Given the description of an element on the screen output the (x, y) to click on. 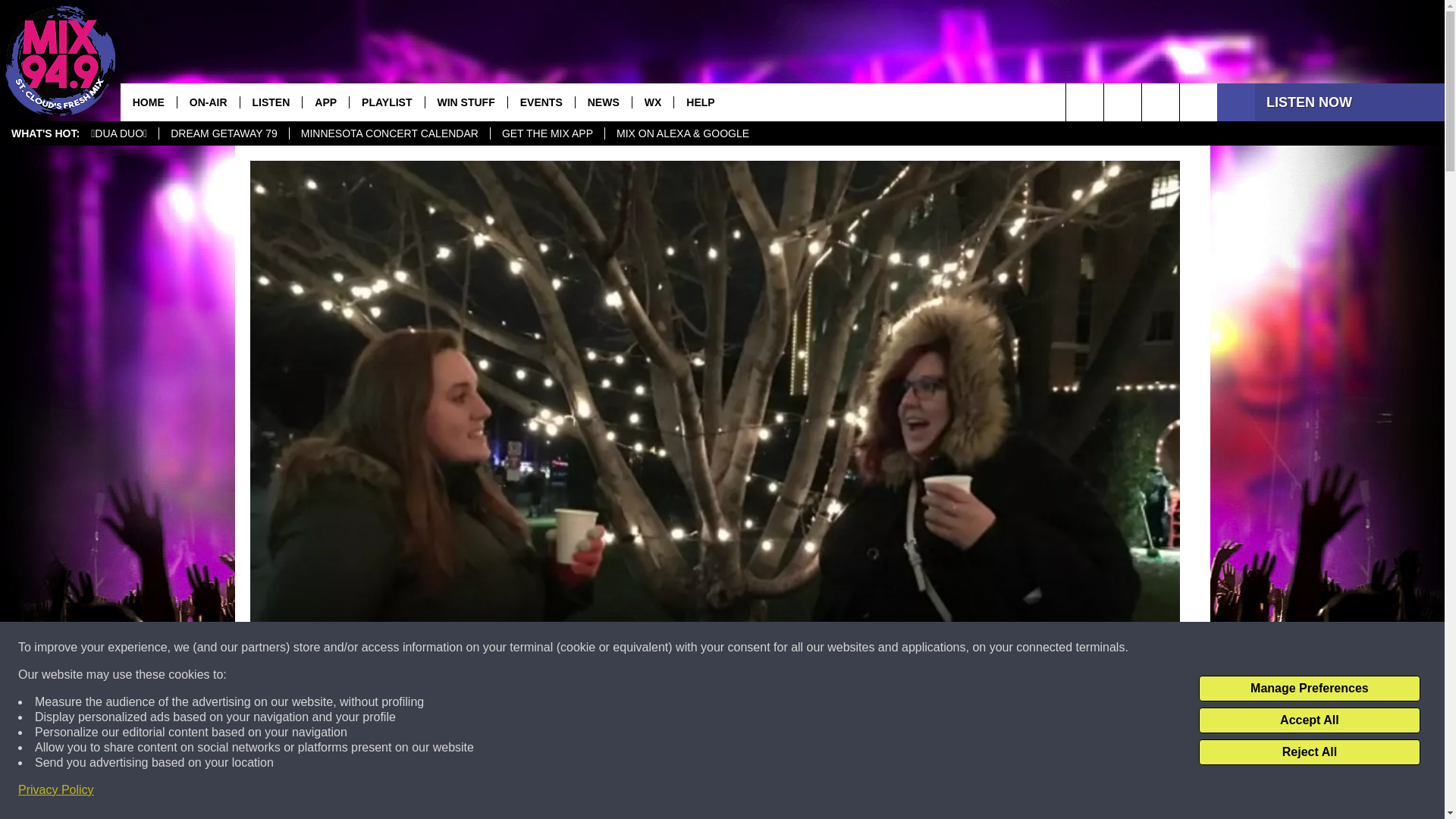
Reject All (1309, 751)
ON-AIR (208, 102)
Share on Facebook (517, 791)
HOME (148, 102)
Accept All (1309, 720)
PLAYLIST (386, 102)
APP (325, 102)
GET THE MIX APP (546, 133)
LISTEN (271, 102)
WIN STUFF (465, 102)
Share on Twitter (912, 791)
Privacy Policy (55, 789)
EVENTS (540, 102)
Manage Preferences (1309, 688)
DREAM GETAWAY 79 (223, 133)
